Given the description of an element on the screen output the (x, y) to click on. 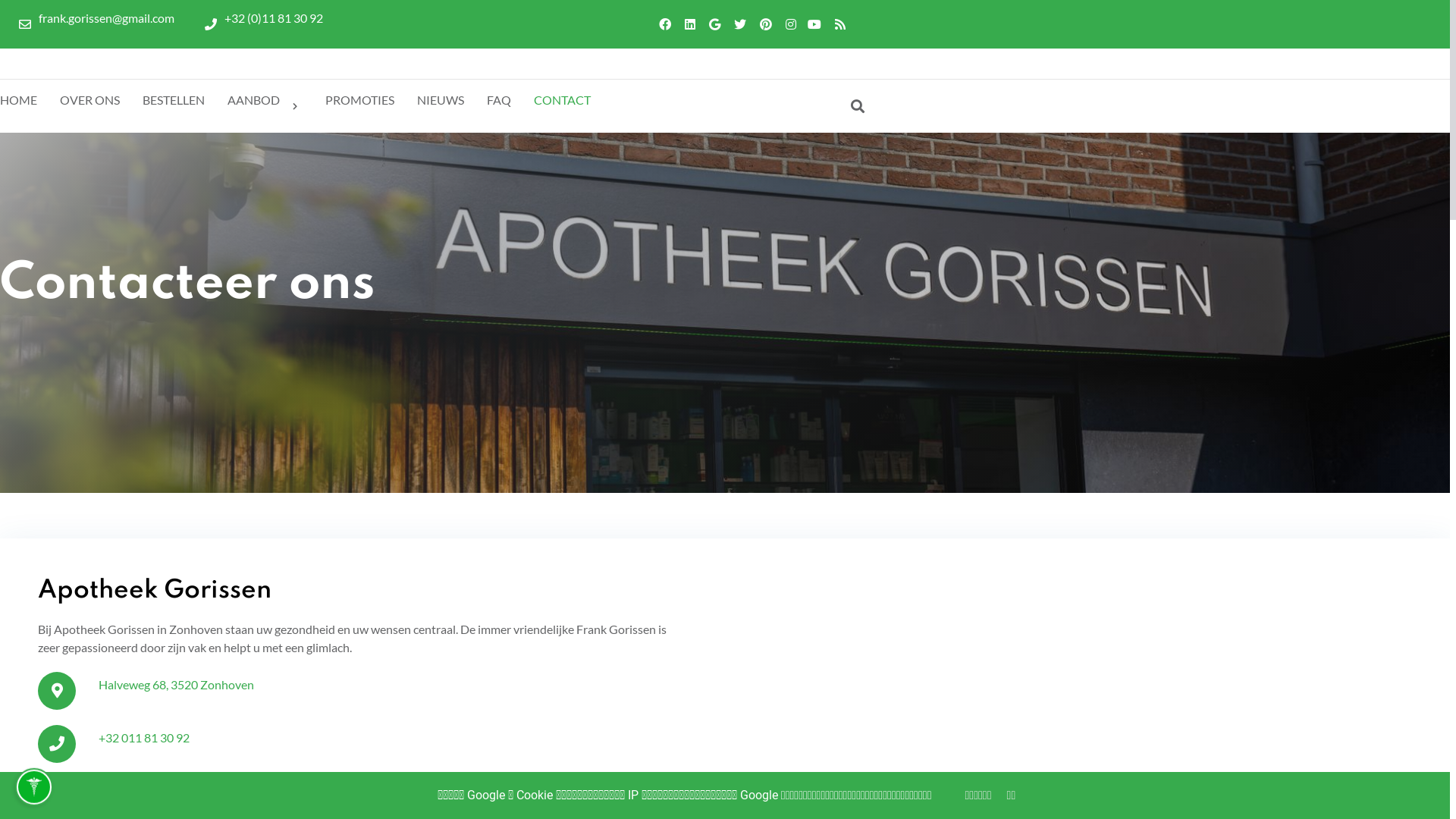
BESTELLEN Element type: text (173, 100)
frank.gorissen@gmail.com Element type: text (166, 790)
AANBOD Element type: text (264, 106)
NIEUWS Element type: text (440, 100)
PROMOTIES Element type: text (359, 100)
CONTACT Element type: text (561, 100)
+32 (0)11 81 30 92 Element type: text (263, 24)
+32 011 81 30 92 Element type: text (143, 737)
HOME Element type: text (18, 100)
frank.gorissen@gmail.com Element type: text (96, 24)
Halveweg 68, 3520 Zonhoven Element type: text (176, 684)
OVER ONS Element type: text (89, 100)
FAQ Element type: text (498, 100)
